Given the description of an element on the screen output the (x, y) to click on. 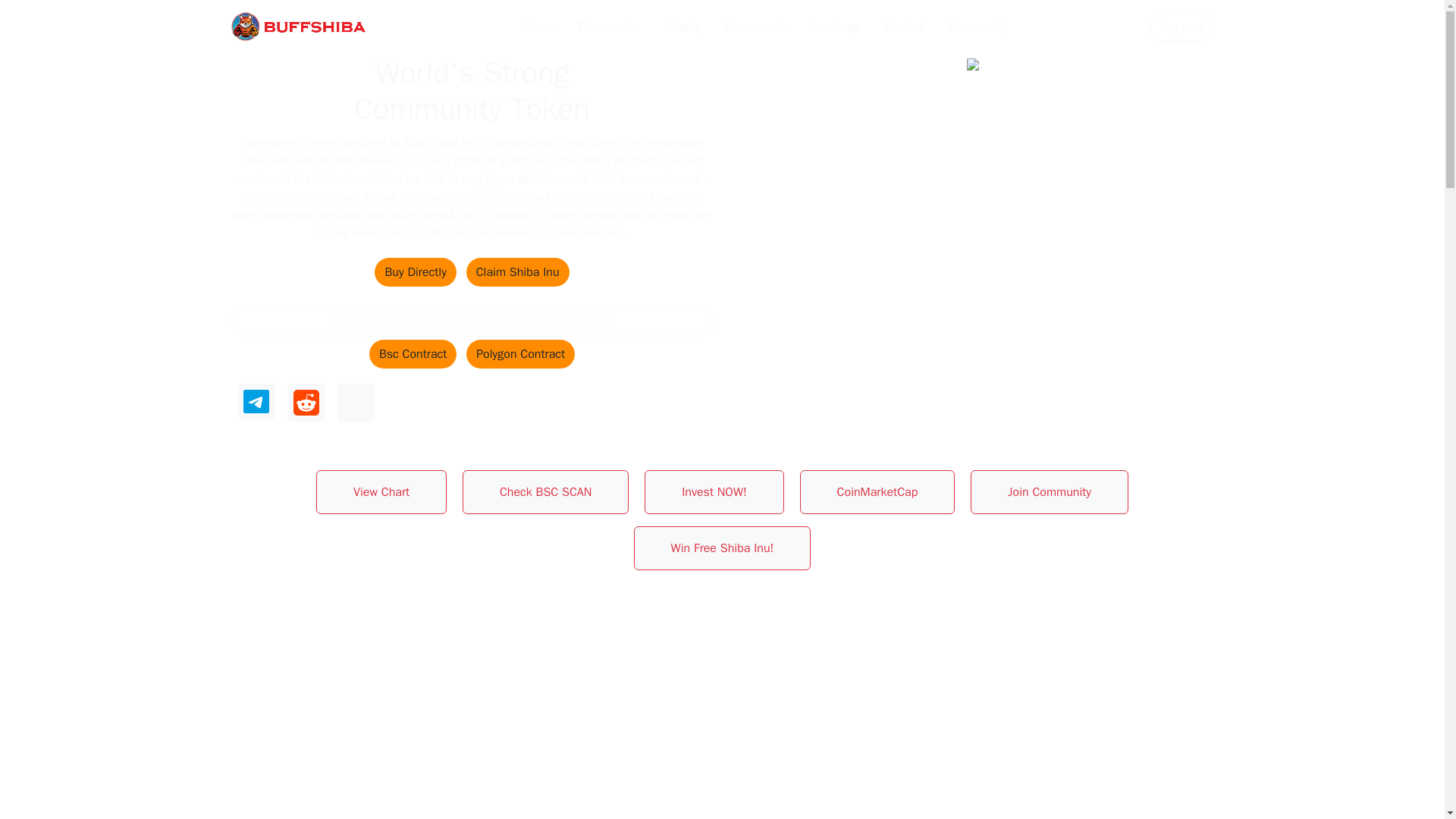
Polygon Contract (520, 353)
Win Free Shiba Inu! (721, 548)
Buy now (1182, 27)
Contact (904, 27)
0xf2673f49d2737f97d70995ed43d128e0b8e560c5 (471, 321)
Charity (682, 27)
Documents (754, 27)
Invest NOW! (714, 492)
Community (977, 27)
Roadmap (834, 27)
